Given the description of an element on the screen output the (x, y) to click on. 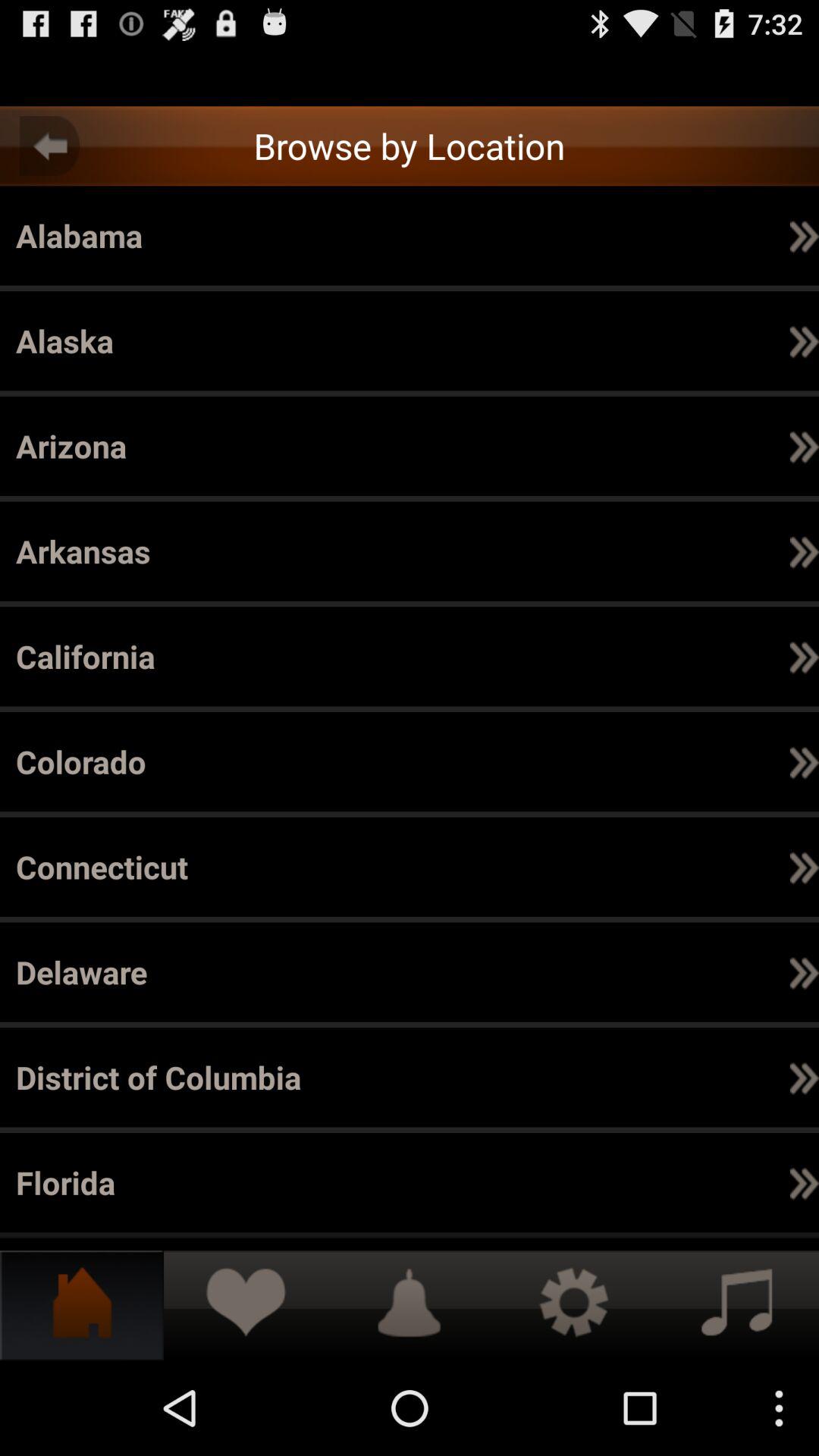
launch item next to the      item (248, 761)
